Given the description of an element on the screen output the (x, y) to click on. 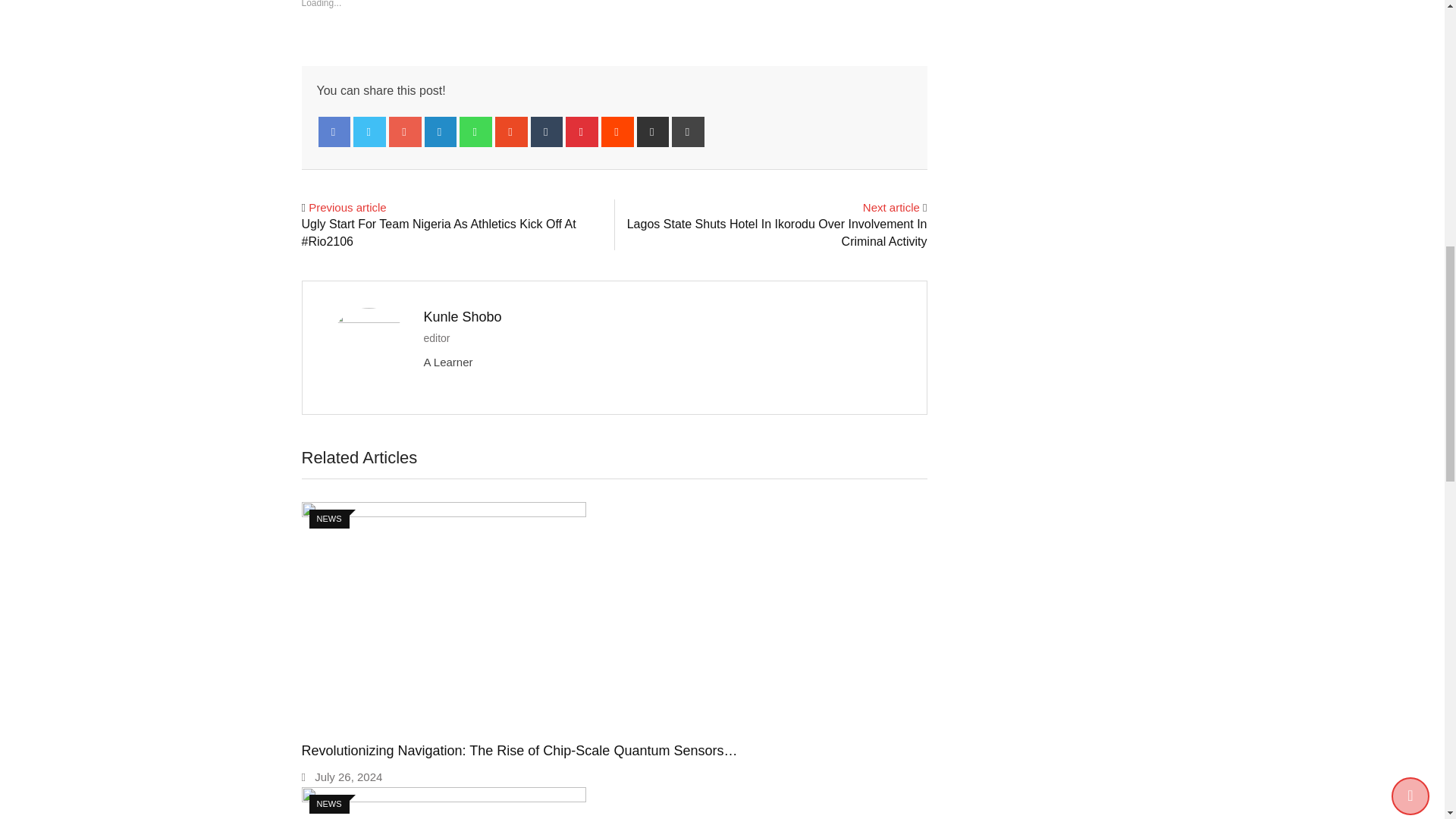
Posts by Kunle Shobo (461, 316)
